Given the description of an element on the screen output the (x, y) to click on. 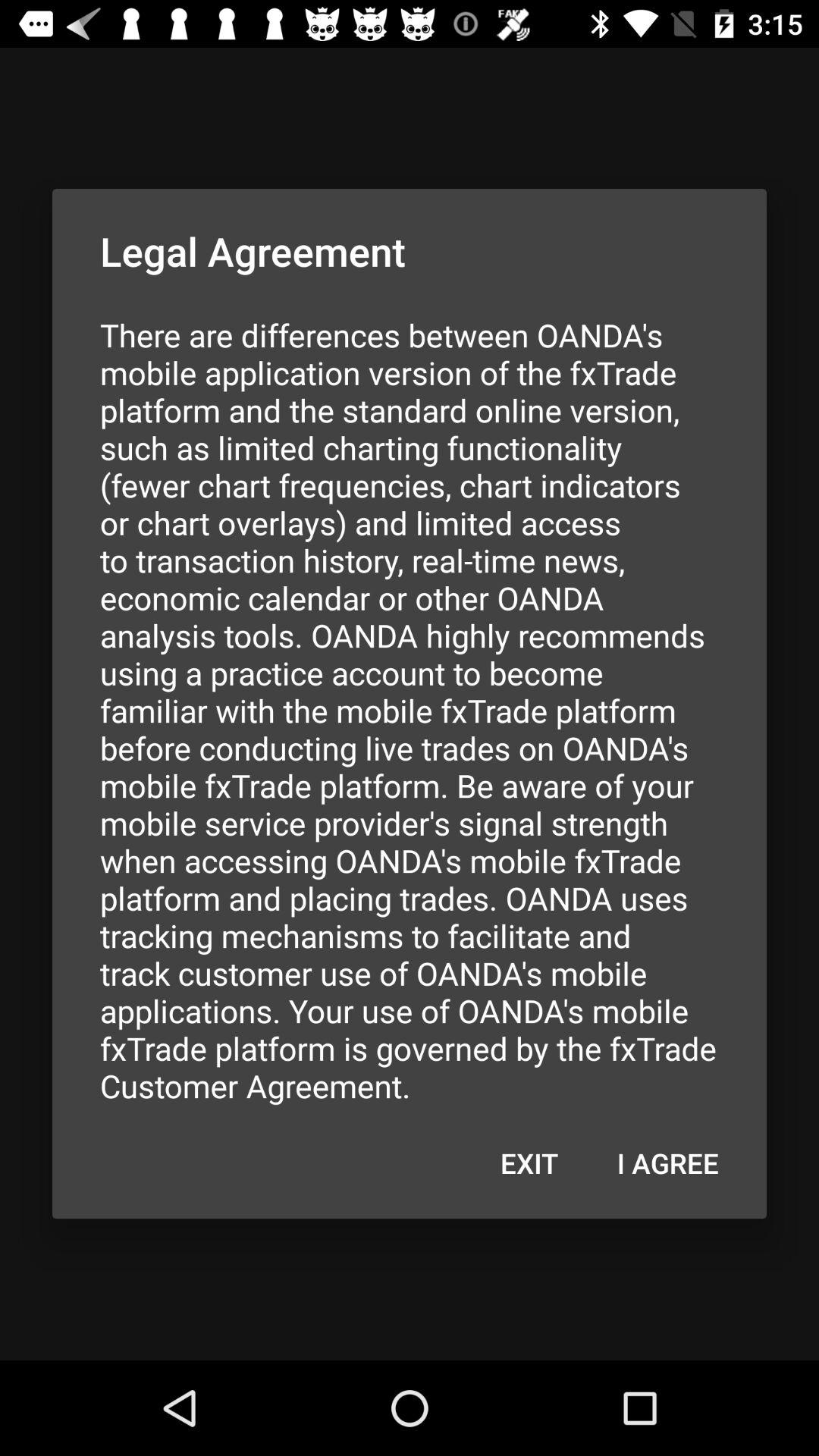
tap the icon next to exit button (667, 1162)
